Given the description of an element on the screen output the (x, y) to click on. 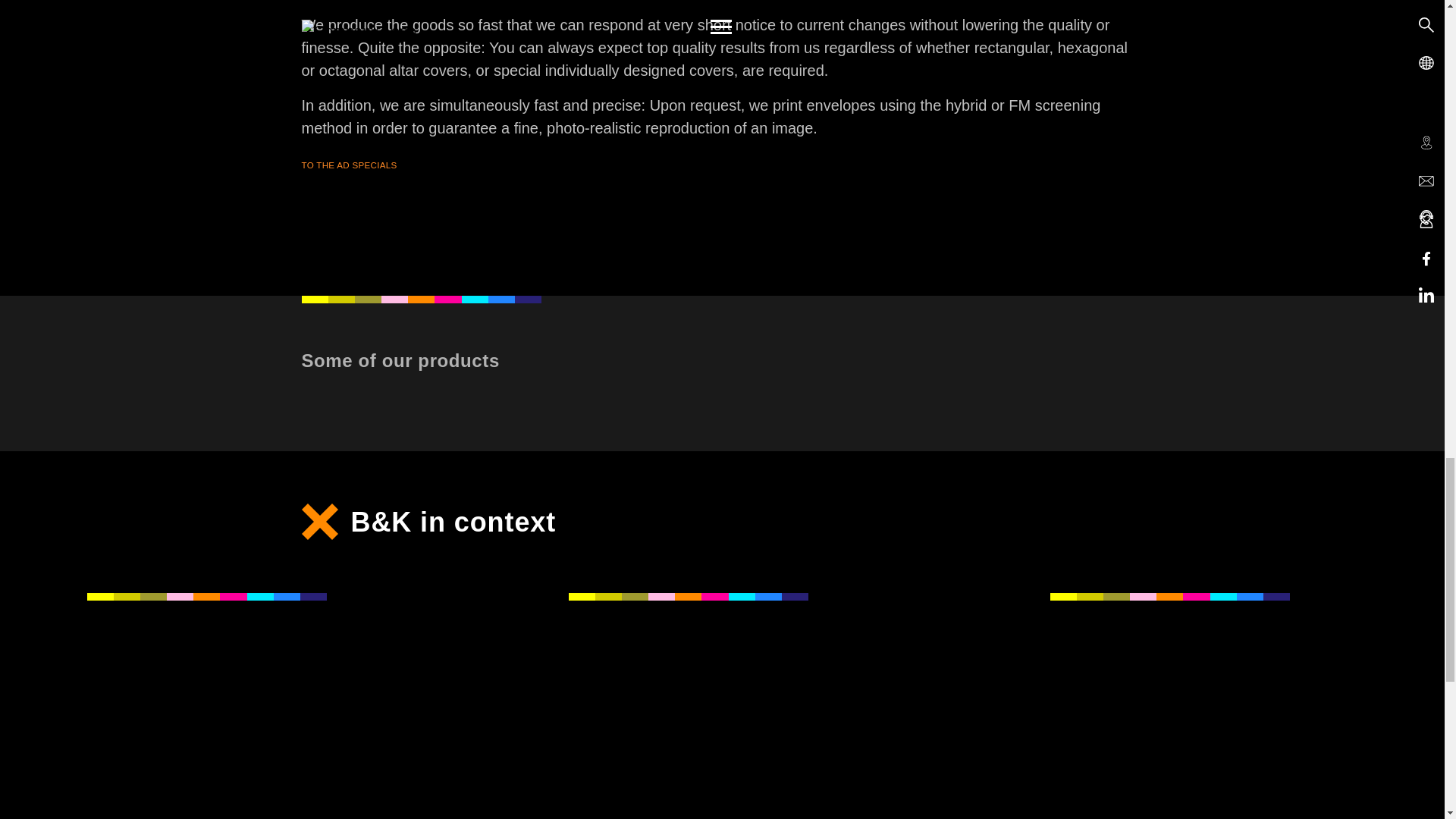
To the ad specials (349, 164)
